Given the description of an element on the screen output the (x, y) to click on. 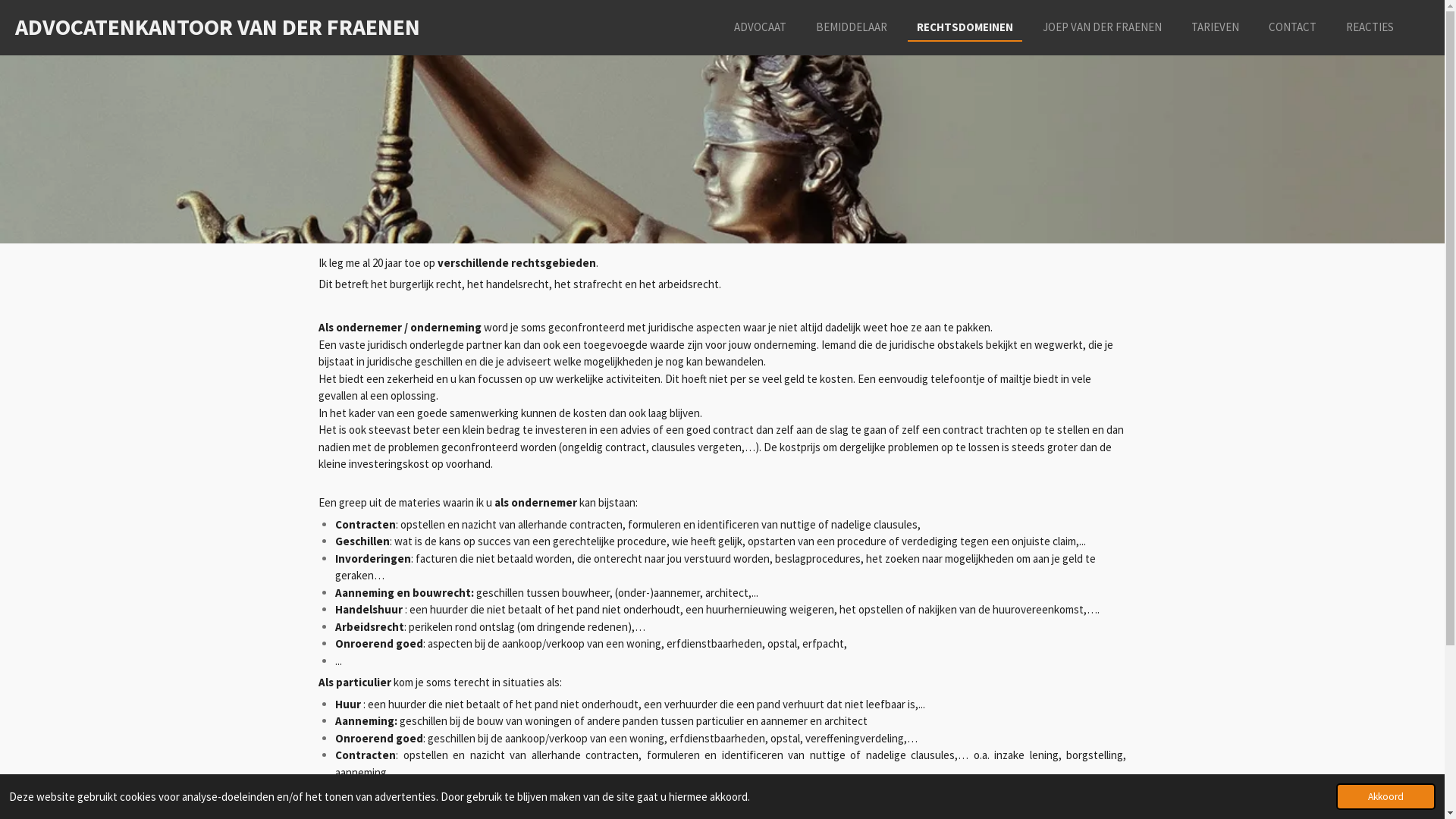
CONTACT Element type: text (1292, 27)
Akkoord Element type: text (1385, 796)
BEMIDDELAAR Element type: text (851, 27)
RECHTSDOMEINEN Element type: text (964, 27)
ADVOCAAT Element type: text (759, 27)
REACTIES Element type: text (1369, 27)
JOEP VAN DER FRAENEN Element type: text (1101, 27)
ADVOCATENKANTOOR VAN DER FRAENEN Element type: text (217, 26)
TARIEVEN Element type: text (1215, 27)
